Given the description of an element on the screen output the (x, y) to click on. 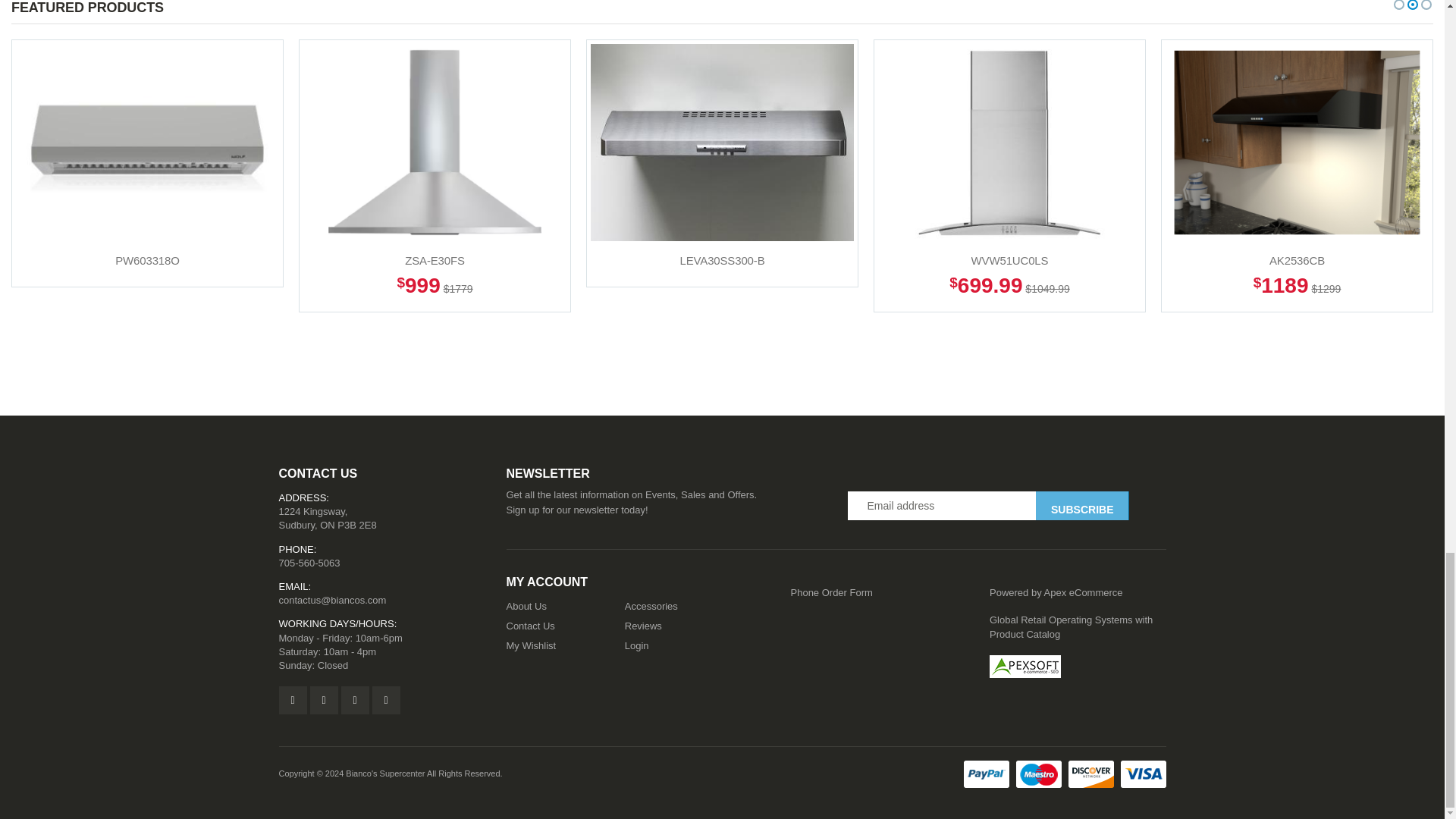
Subscribe (1081, 505)
